Given the description of an element on the screen output the (x, y) to click on. 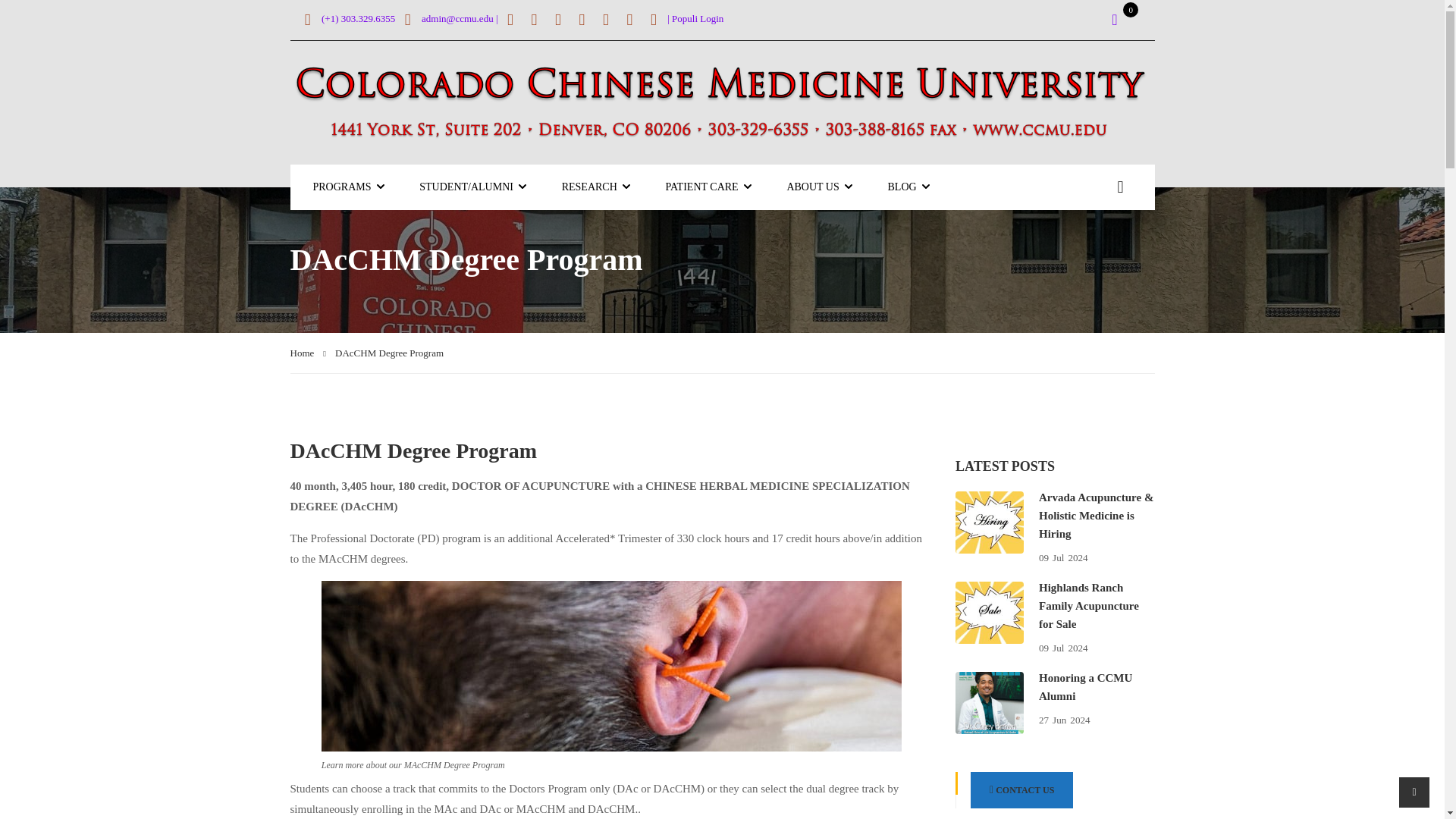
Search (1119, 180)
Acupuncture Clinics (694, 186)
Community Resources (458, 186)
Search (1119, 180)
